Given the description of an element on the screen output the (x, y) to click on. 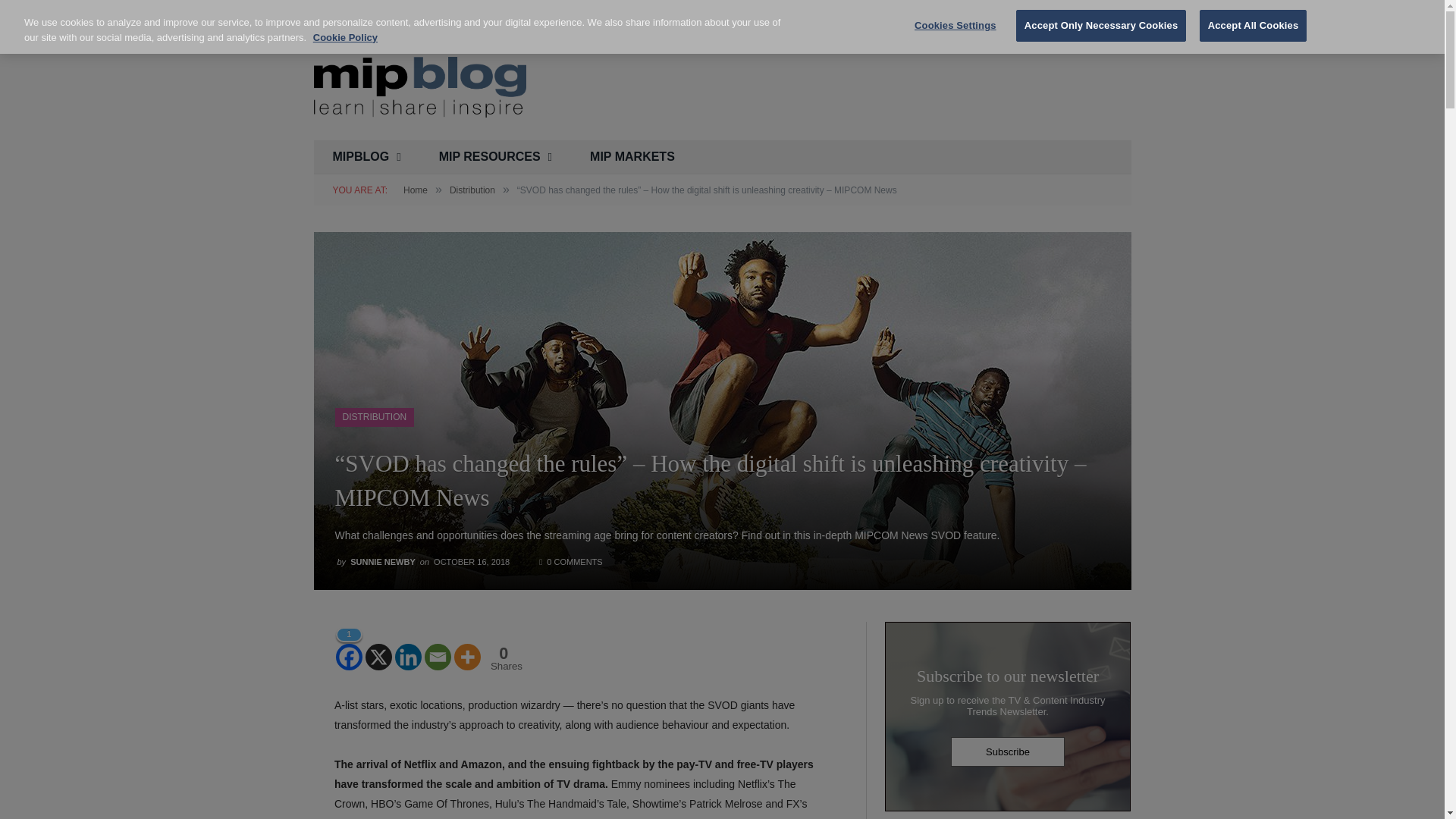
0 COMMENTS (570, 561)
MIPBlog (419, 84)
MIPBLOG (367, 157)
Facebook (887, 18)
Youtube (906, 18)
tiktok (963, 18)
Youtube (906, 18)
Total Shares (503, 658)
About us (333, 17)
Twitter (868, 18)
LinkedIn (925, 18)
MIP RESOURCES (495, 157)
DISTRIBUTION (374, 416)
Posts by Sunnie Newby (382, 561)
Facebook (887, 18)
